Given the description of an element on the screen output the (x, y) to click on. 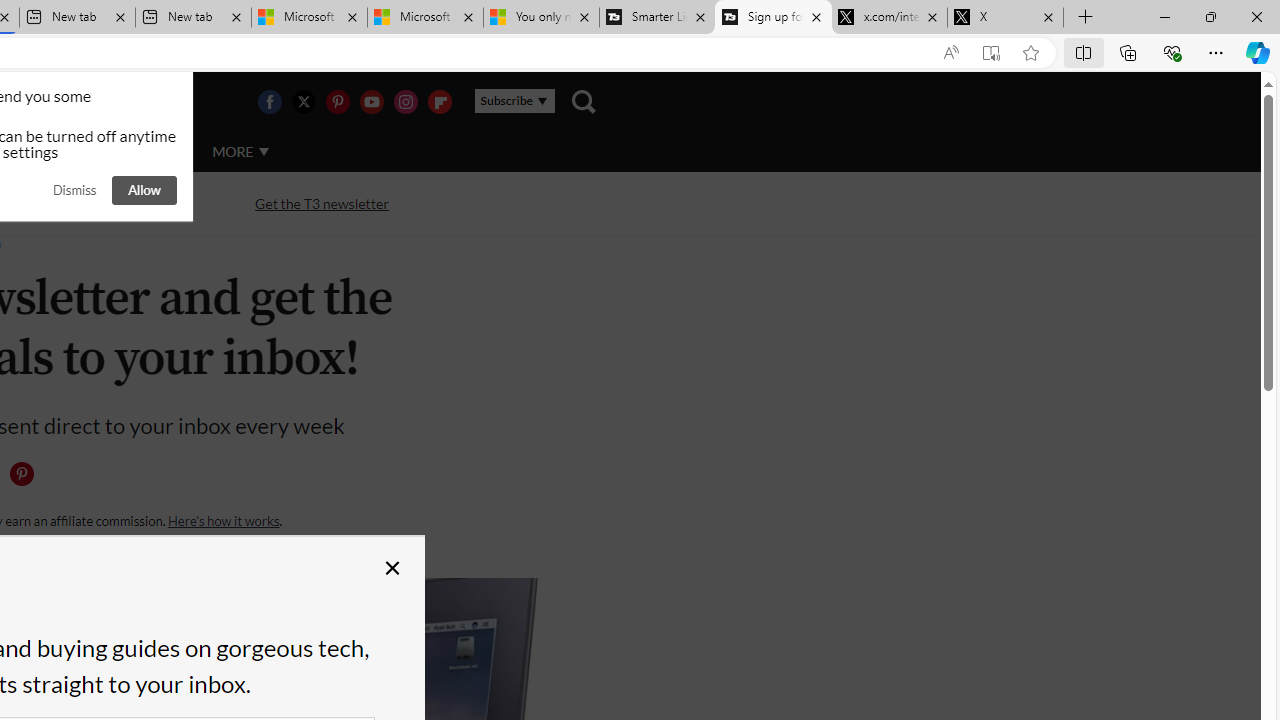
Get the T3 newsletter (322, 204)
Dismiss (73, 190)
Visit us on Pintrest (337, 101)
Class: social__item (25, 477)
Smarter Living | T3 (657, 17)
Class: svg-arrow-down (264, 151)
Allow (144, 190)
Visit us on Instagram (405, 101)
